Given the description of an element on the screen output the (x, y) to click on. 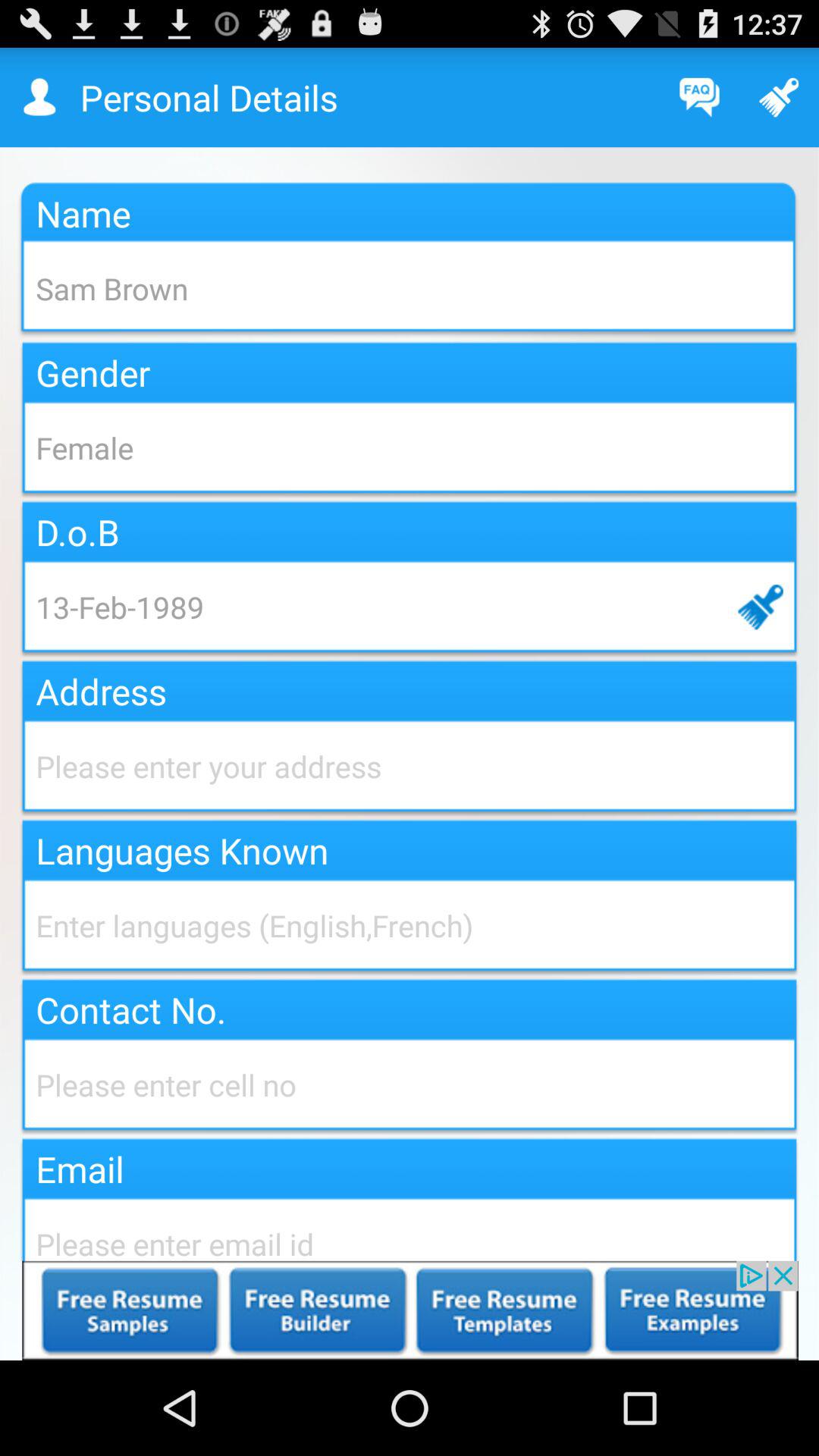
enter contact number (409, 1084)
